Given the description of an element on the screen output the (x, y) to click on. 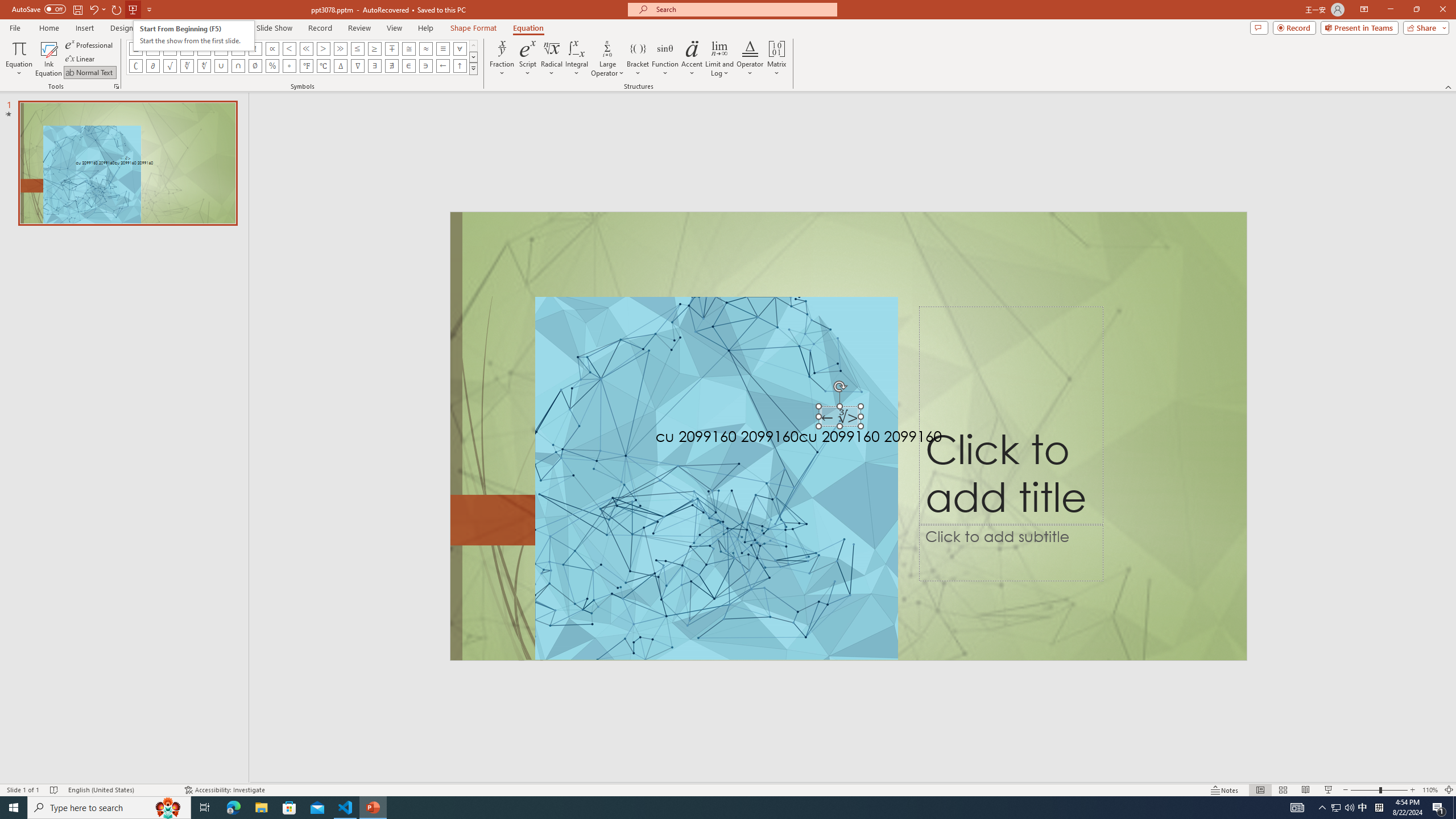
Equation Symbol Intersection (238, 65)
Matrix (776, 58)
Equation Symbol Contains as Member (425, 65)
Equation Symbol For All (459, 48)
Equation Symbol Degrees Fahrenheit (306, 65)
